Given the description of an element on the screen output the (x, y) to click on. 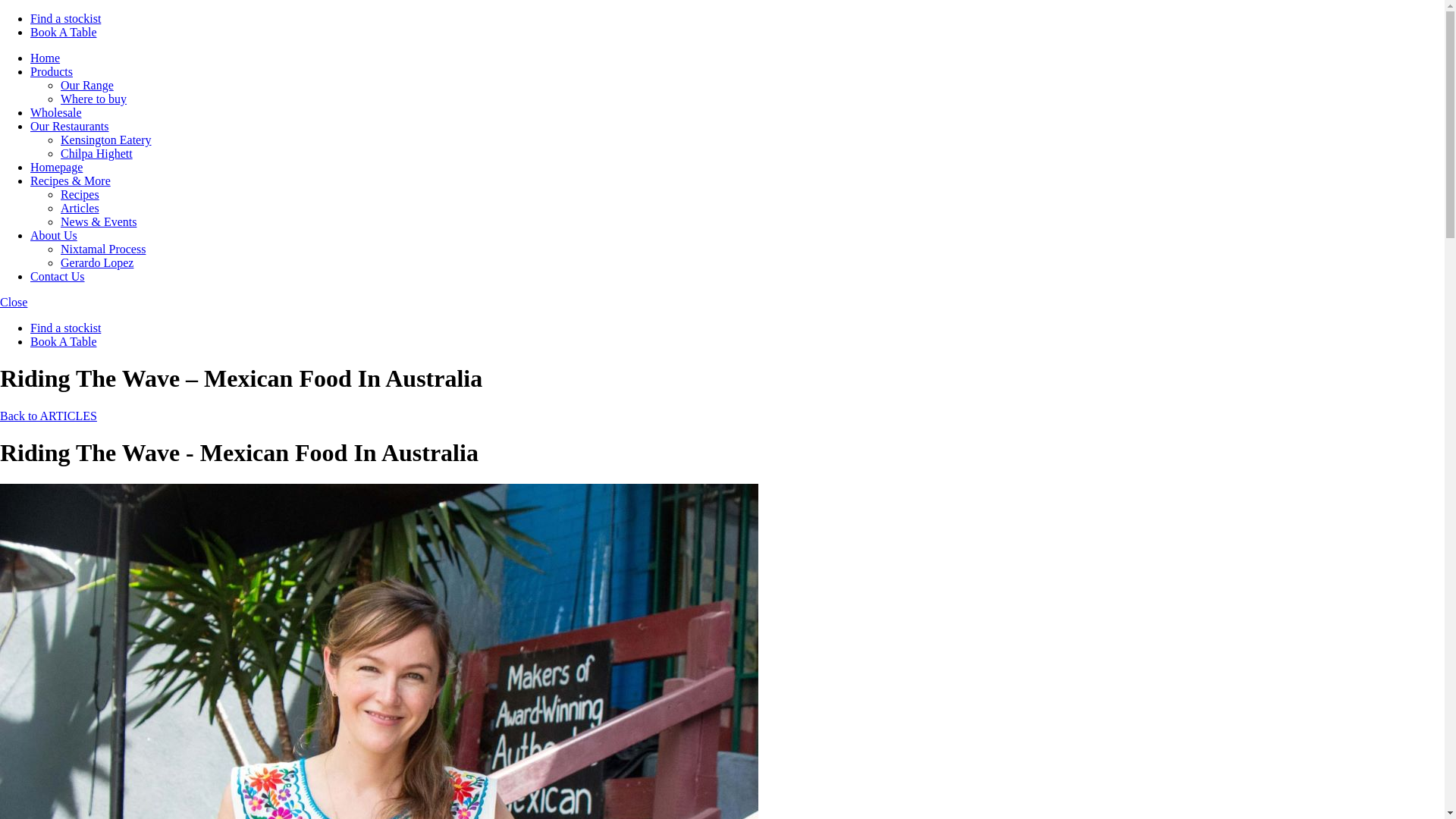
Find a stockist (65, 327)
Back to ARTICLES (48, 415)
About Us (53, 235)
Where to buy (93, 98)
Homepage (56, 166)
Our Restaurants (69, 125)
Find a stockist (65, 18)
Recipes (80, 194)
Kensington Eatery (106, 139)
Close (13, 301)
